Given the description of an element on the screen output the (x, y) to click on. 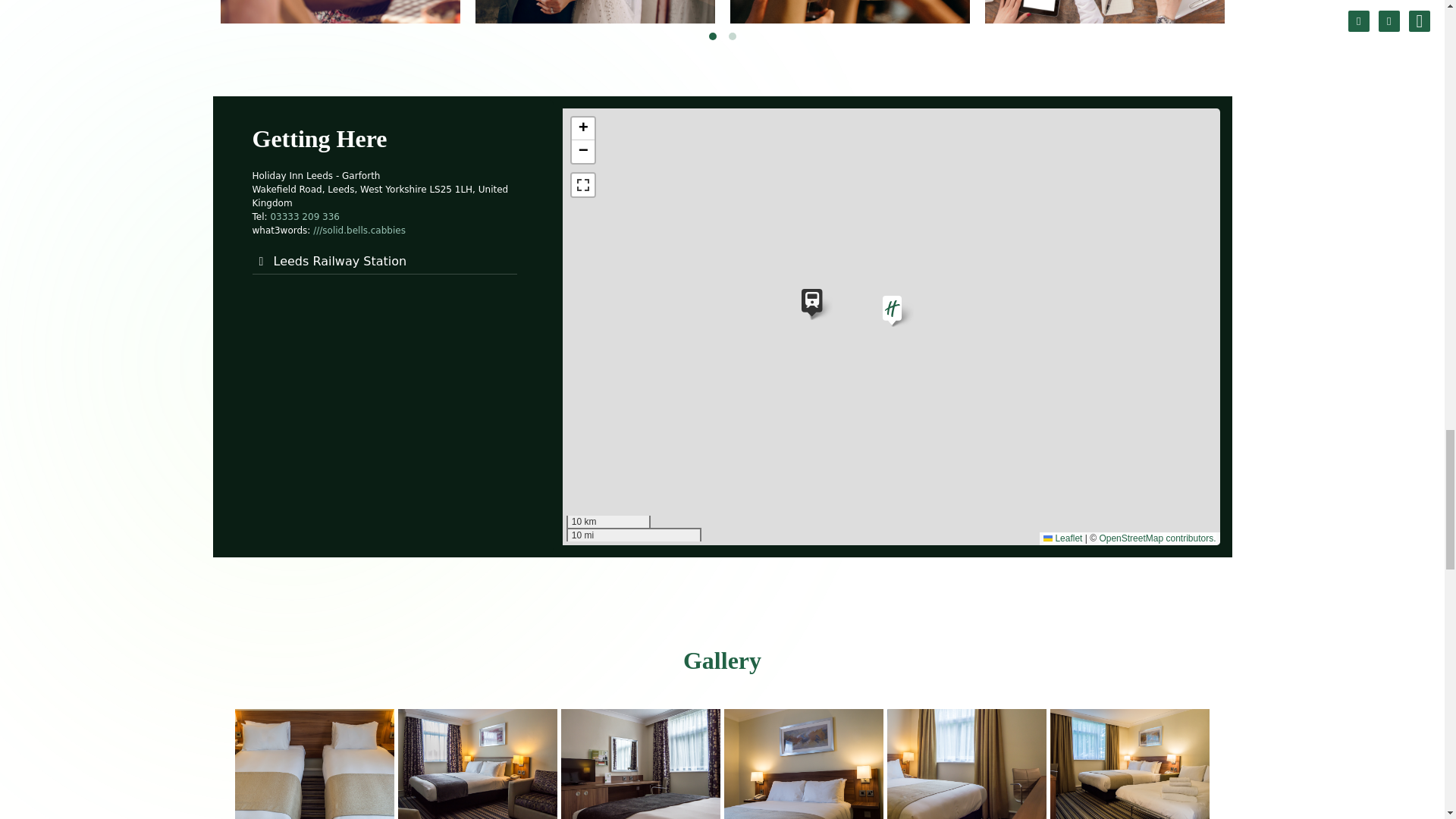
Zoom in (583, 128)
Zoom out (583, 151)
A JavaScript library for interactive maps (1062, 538)
View Fullscreen (583, 184)
